Given the description of an element on the screen output the (x, y) to click on. 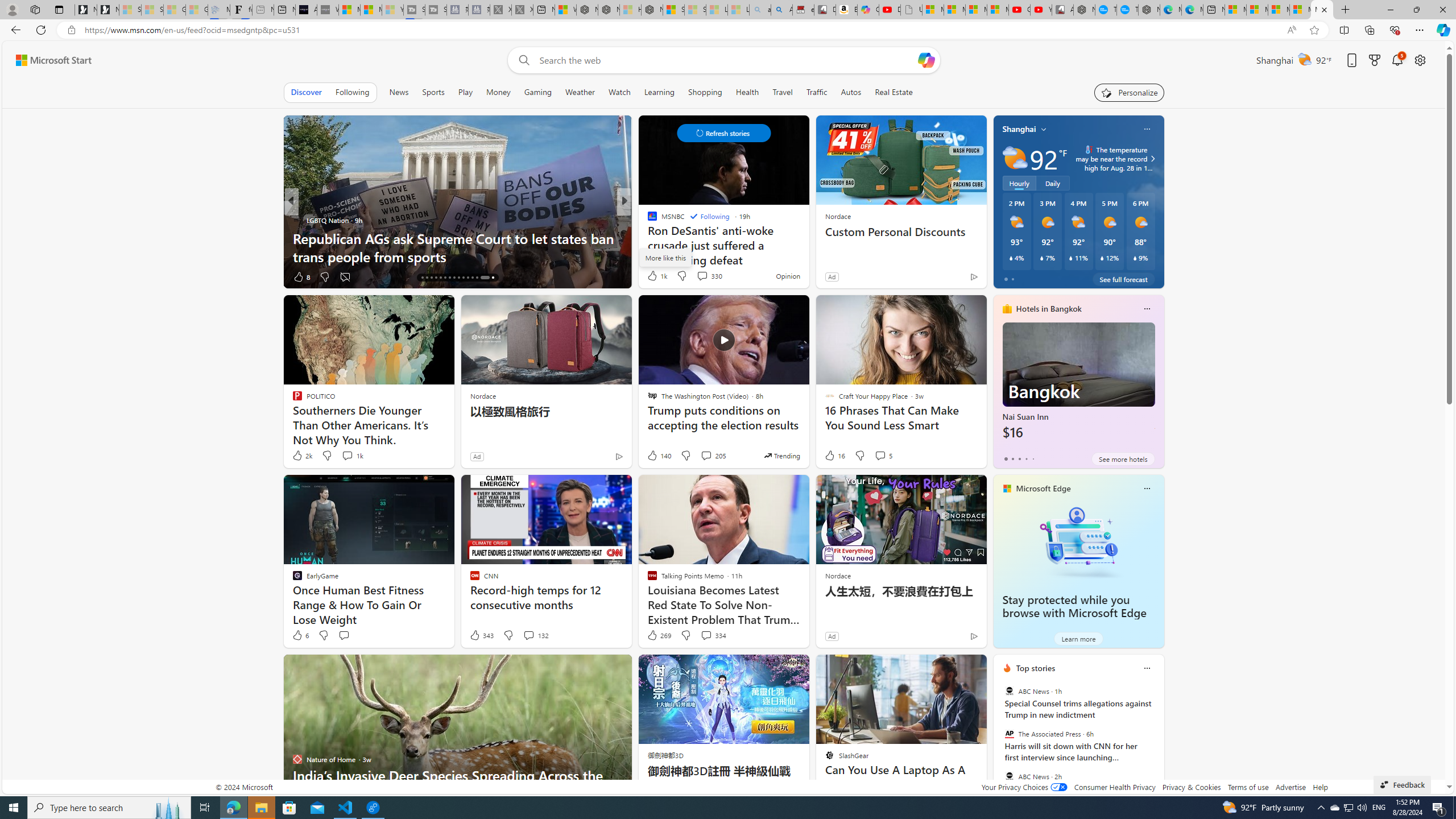
View comments 5 Comment (879, 455)
View comments 1k Comment (352, 455)
269 Like (658, 634)
See full forecast (1123, 278)
